Given the description of an element on the screen output the (x, y) to click on. 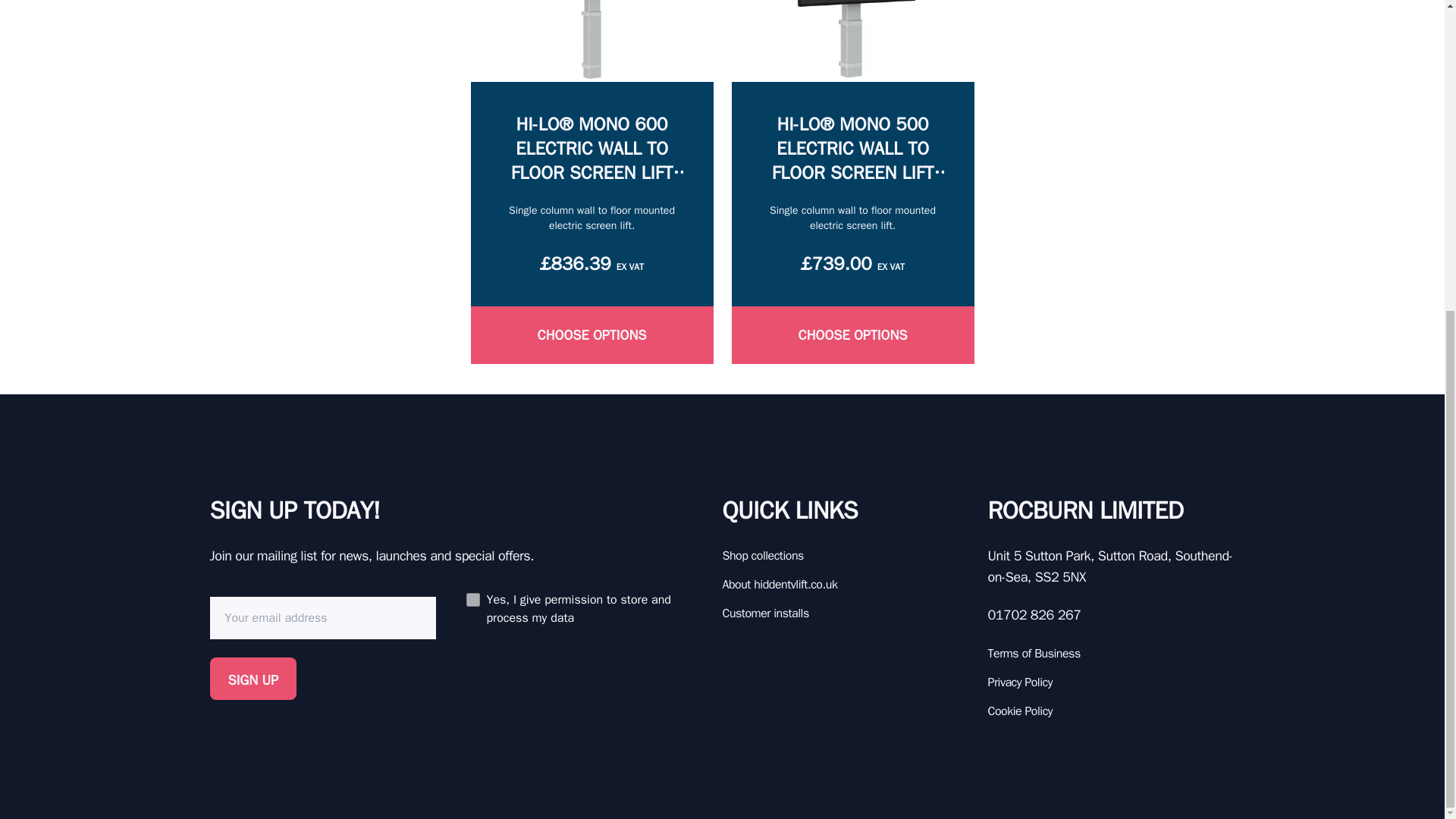
About hiddentvlift.co.uk (845, 584)
Cookie Policy (1110, 711)
Sign Up (253, 678)
Shop collections (845, 555)
Terms of Business (1110, 653)
Privacy Policy (1110, 681)
Customer installs (845, 613)
Sign Up (253, 678)
